Given the description of an element on the screen output the (x, y) to click on. 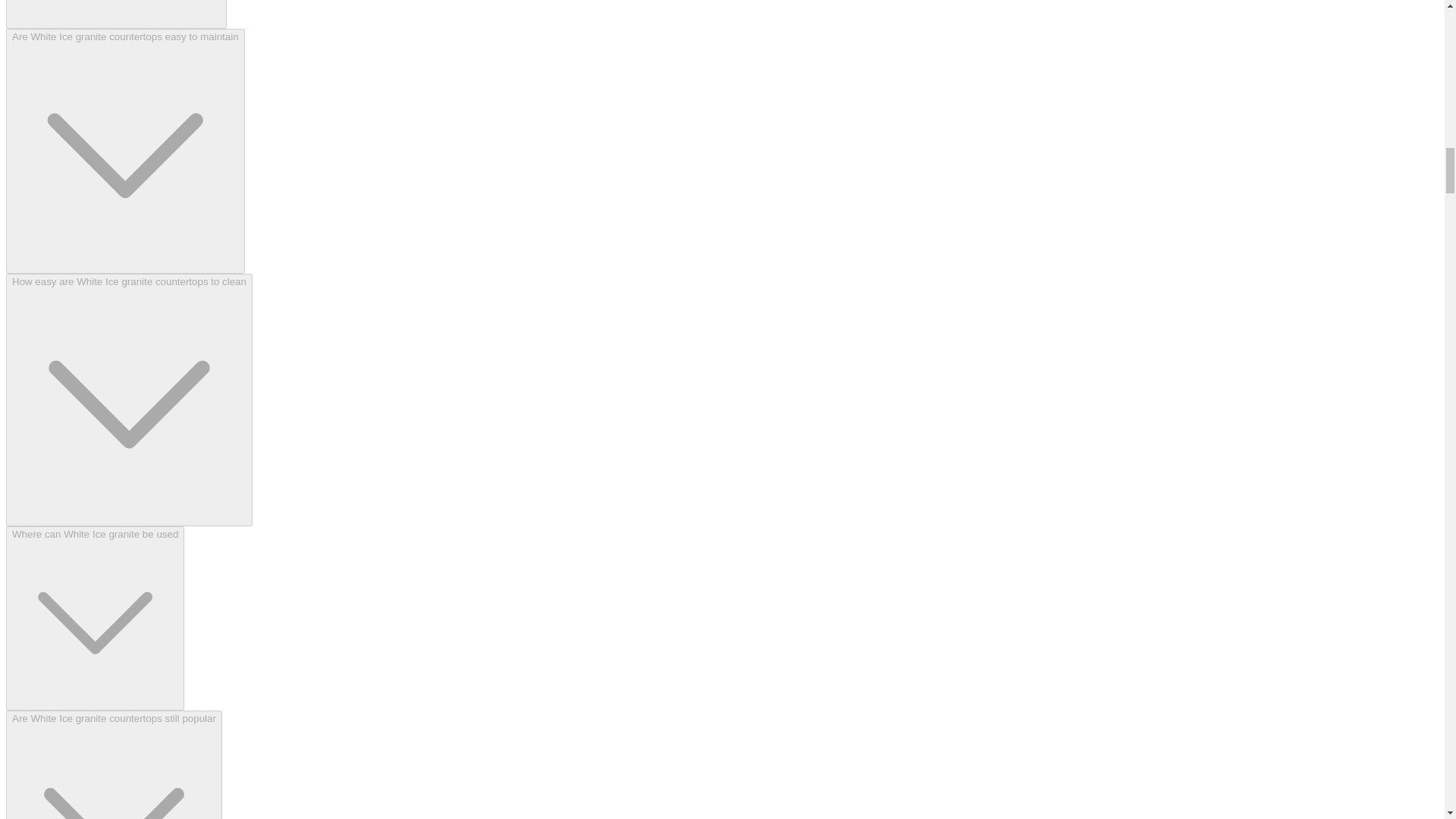
How easy are White Ice granite countertops to clean (128, 399)
Are White Ice granite countertops still popular (113, 764)
Are White Ice granite countertops easy to maintain (124, 150)
Where can White Ice granite be used (94, 618)
How durable are White Ice granite countertops (116, 14)
